Given the description of an element on the screen output the (x, y) to click on. 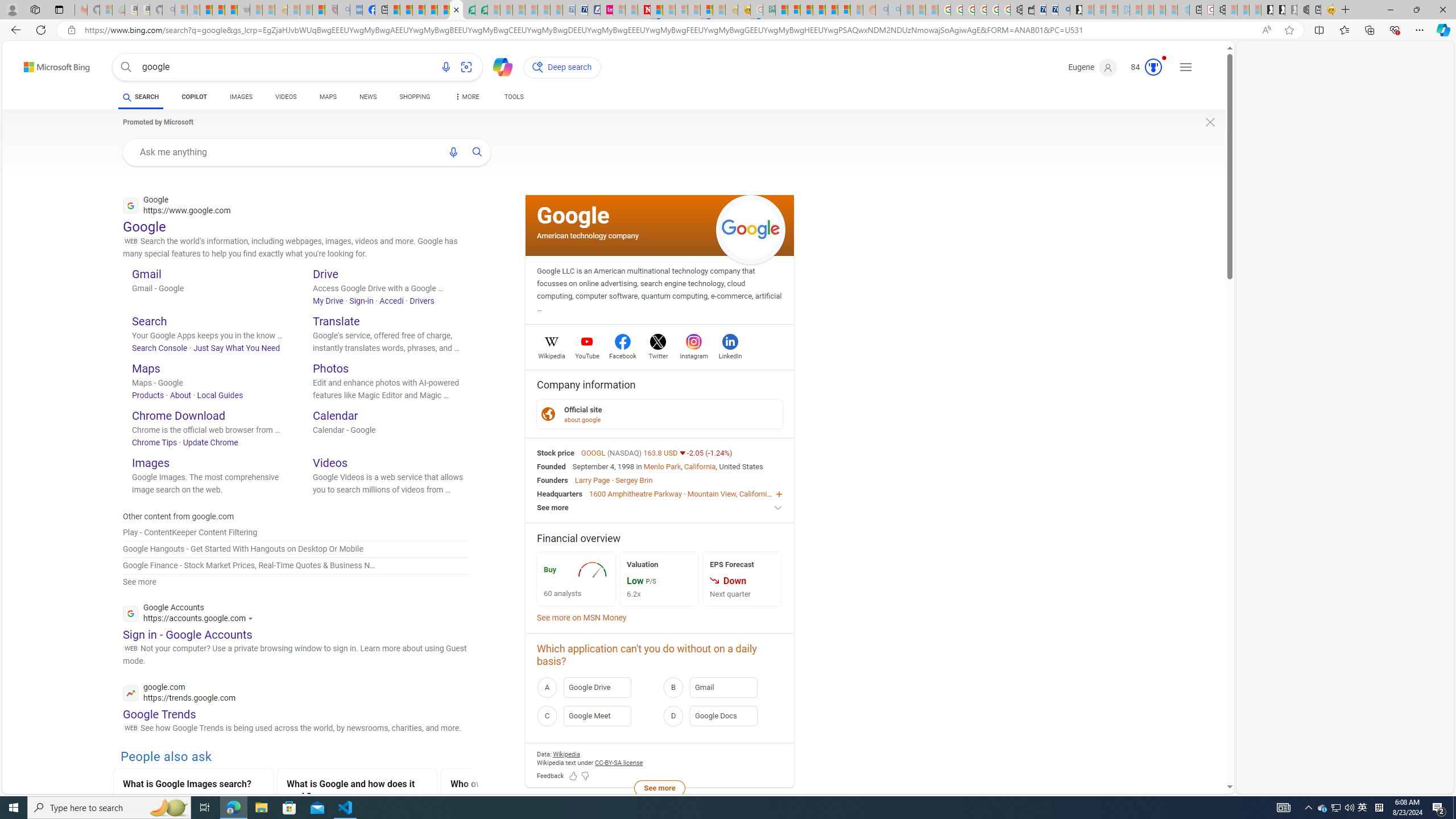
Chat (497, 65)
Search more (1204, 753)
GOOGL  (593, 452)
MAPS (327, 98)
See more images of Google (751, 228)
Gmail (146, 273)
New Report Confirms 2023 Was Record Hot | Watch (230, 9)
Chrome Tips (154, 442)
Microsoft Word - consumer-privacy address update 2.2021 (481, 9)
